Given the description of an element on the screen output the (x, y) to click on. 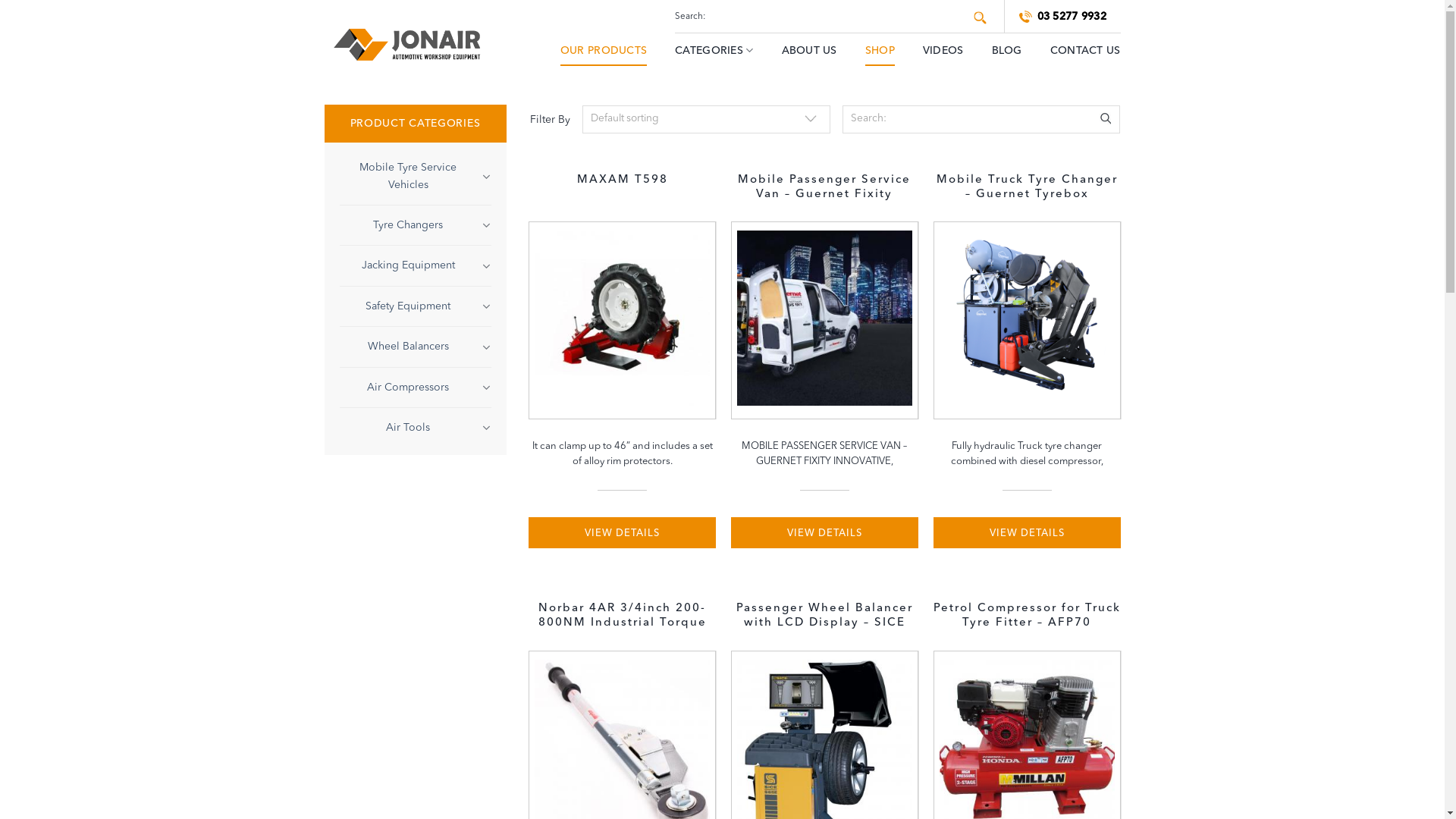
Norbar 4AR 3/4inch 200-800NM Industrial Torque Wrench 12007 Element type: text (621, 615)
Jacking Equipment Element type: text (407, 265)
VIEW DETAILS Element type: text (1026, 532)
VIEW DETAILS Element type: text (621, 532)
Wheel Balancers Element type: text (407, 346)
VIDEOS Element type: text (942, 49)
Safety Equipment Element type: text (407, 306)
Mobile Tyre Service Vehicles Element type: text (407, 175)
Air Compressors Element type: text (407, 387)
SHOP Element type: text (879, 49)
03 5277 9932 Element type: text (1055, 16)
OUR PRODUCTS Element type: text (603, 49)
MAXAM T598 Element type: text (622, 187)
ABOUT US Element type: text (808, 49)
Tyre Changers Element type: text (407, 225)
CATEGORIES Element type: text (713, 50)
BLOG Element type: text (1006, 49)
Air Tools Element type: text (407, 427)
VIEW DETAILS Element type: text (824, 532)
CONTACT US Element type: text (1085, 49)
